Given the description of an element on the screen output the (x, y) to click on. 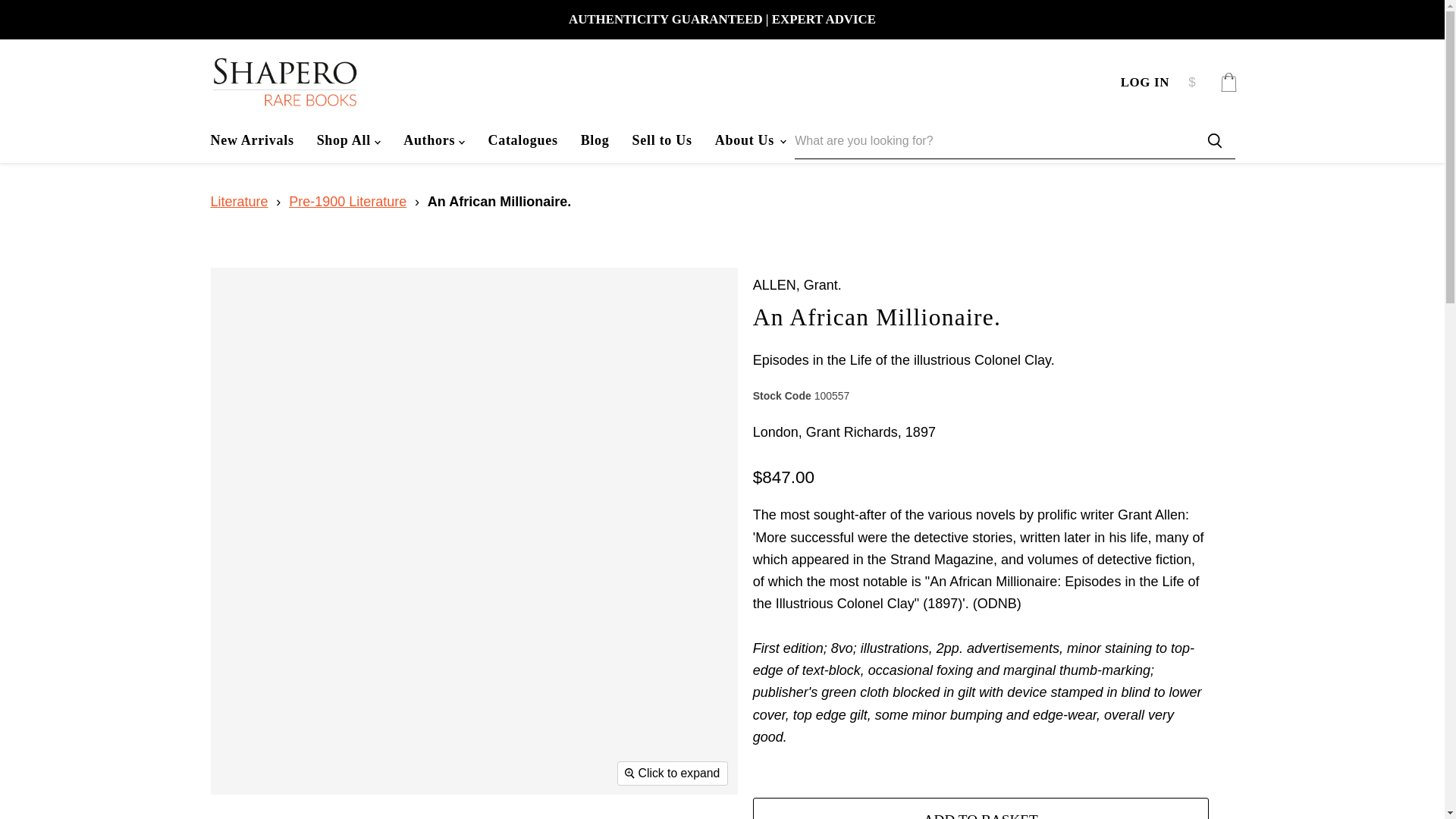
New Arrivals (251, 140)
View cart (1228, 82)
Literature (239, 201)
Pre-1900 Literature (347, 201)
LOG IN (1144, 82)
ALLEN, Grant. (796, 284)
